Given the description of an element on the screen output the (x, y) to click on. 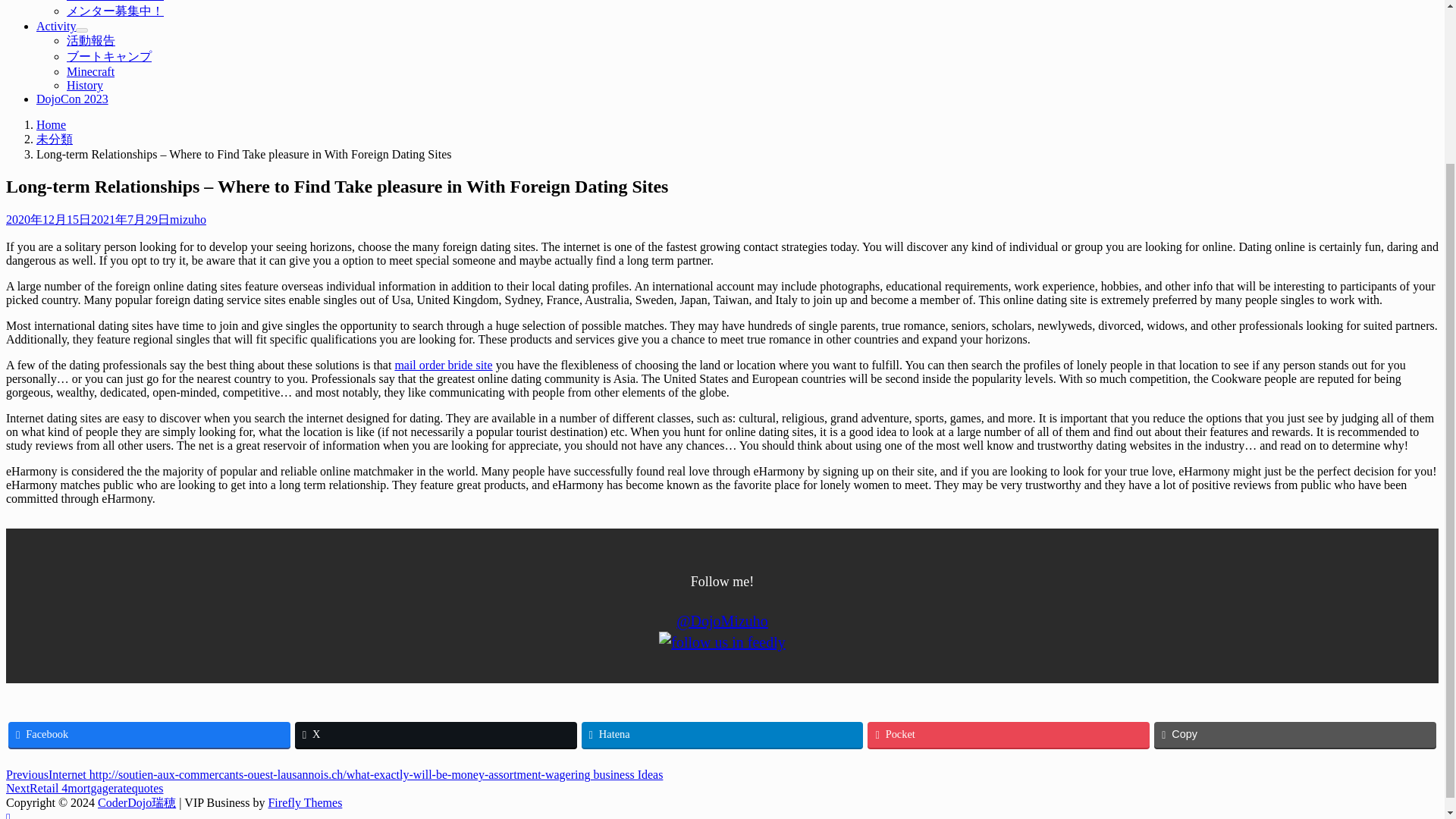
DojoCon 2023 (71, 98)
mail order bride site (443, 364)
Home (50, 124)
Minecraft (90, 71)
Pocket (1008, 734)
X (435, 734)
Firefly Themes (304, 802)
Hatena (721, 734)
NextRetail 4mortgageratequotes (84, 788)
mizuho (188, 219)
